Given the description of an element on the screen output the (x, y) to click on. 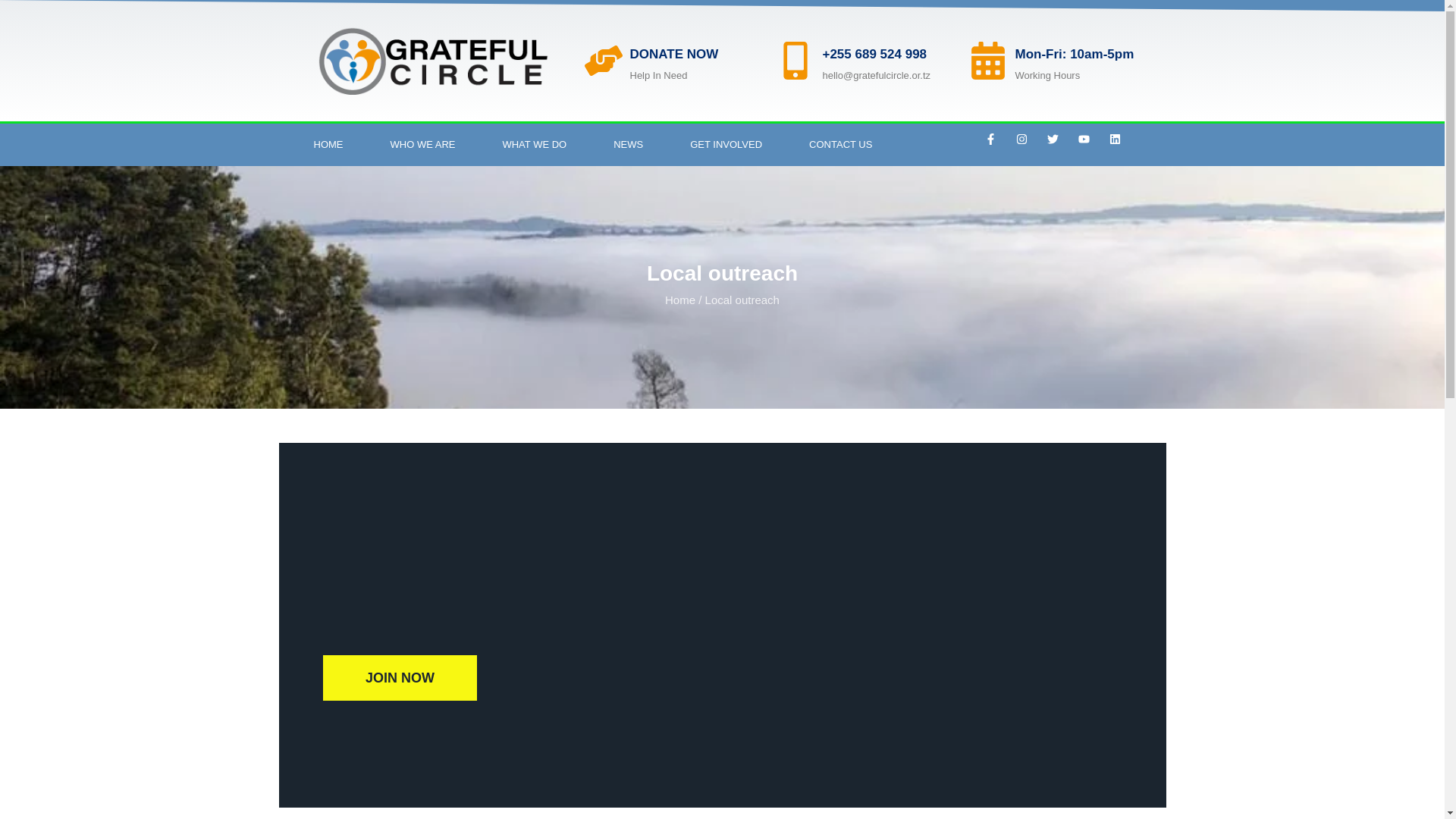
DONATE NOW (672, 53)
GET INVOLVED (726, 144)
NEWS (627, 144)
WHO WE ARE (422, 144)
WHAT WE DO (534, 144)
CONTACT US (840, 144)
HOME (327, 144)
